Given the description of an element on the screen output the (x, y) to click on. 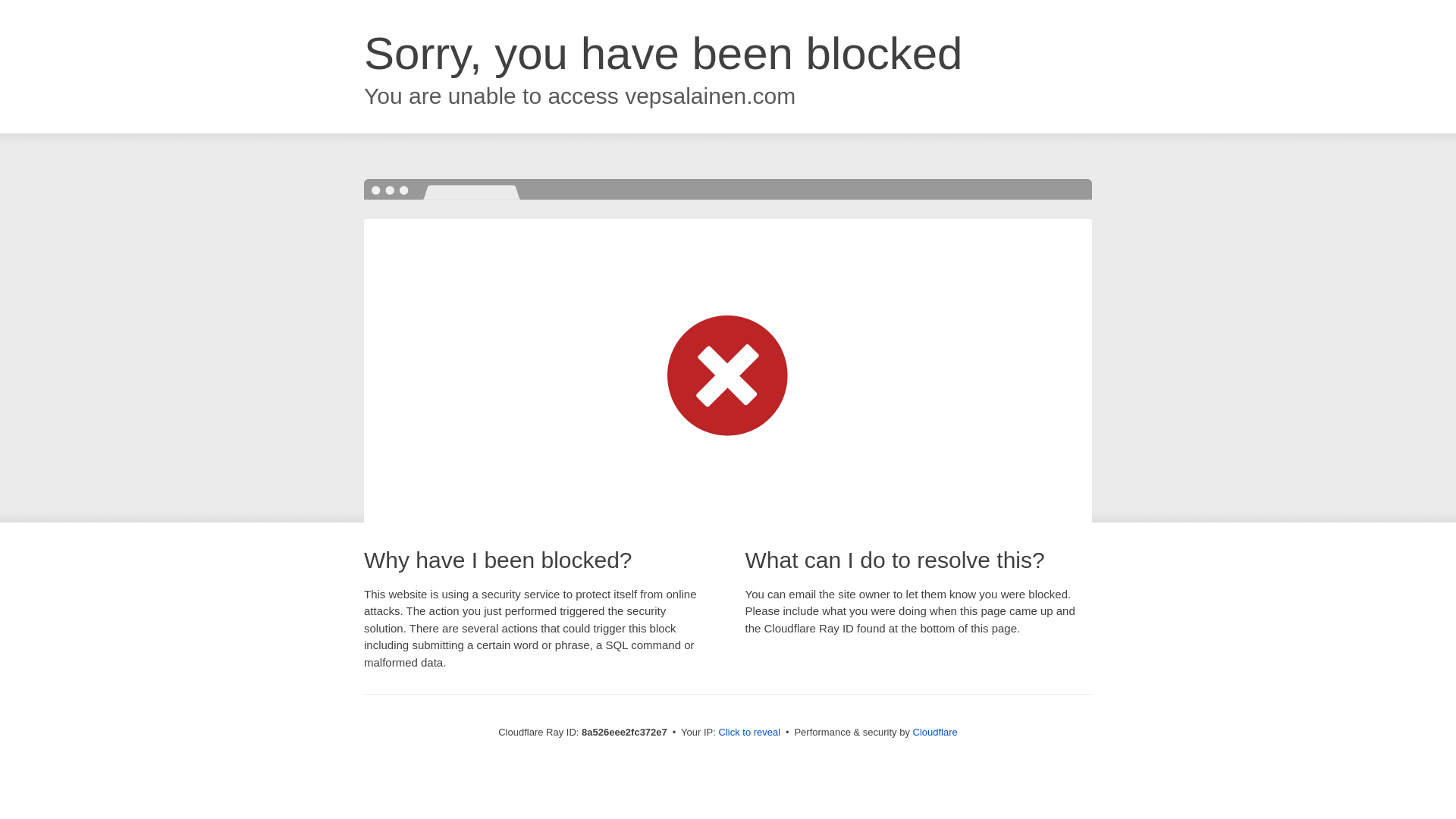
Cloudflare (935, 731)
Click to reveal (749, 732)
